Given the description of an element on the screen output the (x, y) to click on. 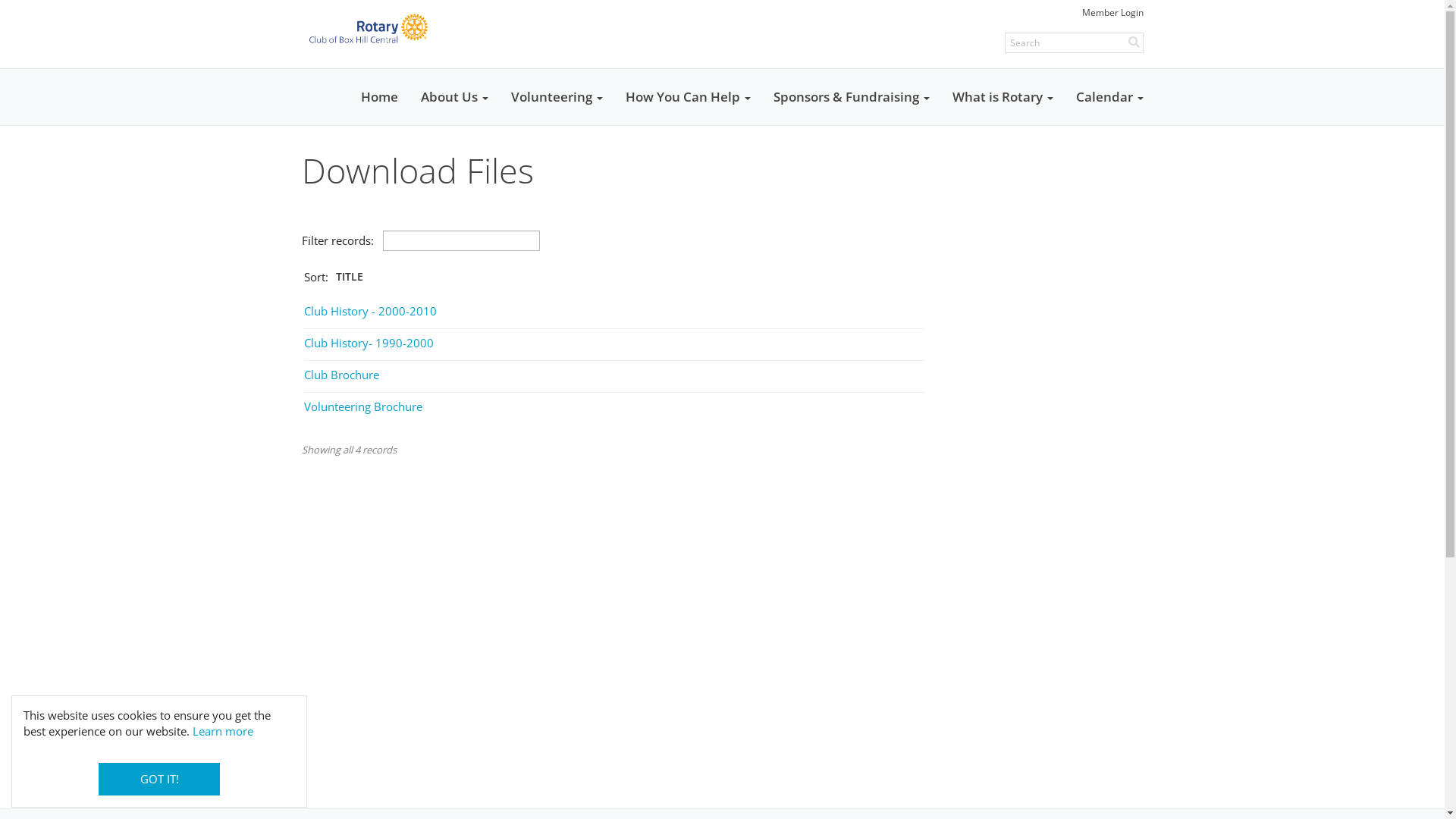
Home Element type: text (378, 96)
About Us Element type: text (454, 96)
What is Rotary Element type: text (1001, 96)
How You Can Help Element type: text (688, 96)
Sponsors & Fundraising Element type: text (850, 96)
Calendar Element type: text (1109, 96)
Club History- 1990-2000 Element type: text (368, 342)
Club History - 2000-2010 Element type: text (369, 310)
Learn more Element type: text (222, 730)
Club Brochure Element type: text (340, 374)
Volunteering Brochure Element type: text (362, 406)
GOT IT! Element type: text (158, 778)
Volunteering Element type: text (555, 96)
Member Login Element type: text (1111, 12)
